Given the description of an element on the screen output the (x, y) to click on. 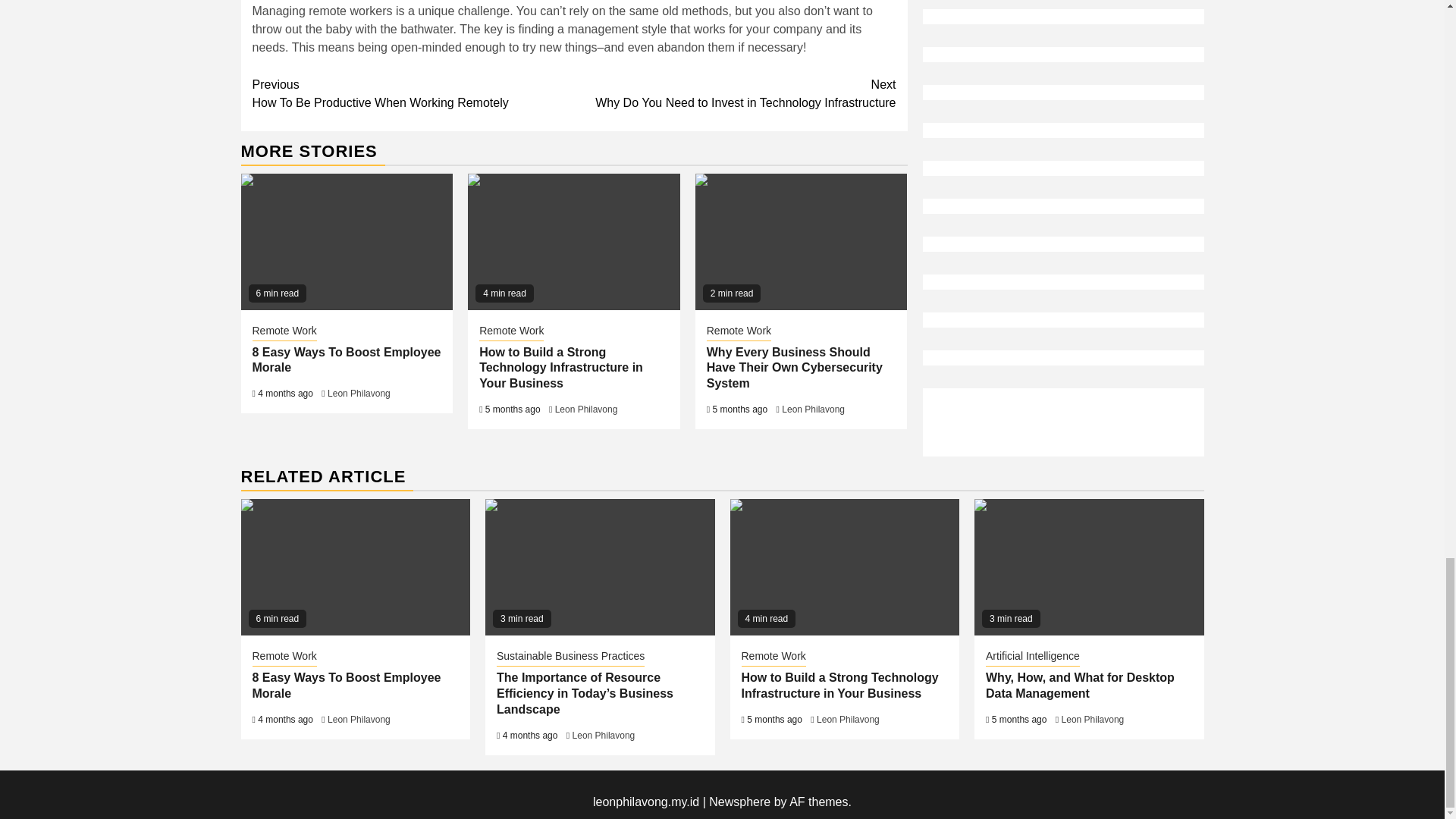
8 Easy Ways To Boost Employee Morale (734, 93)
8 Easy Ways To Boost Employee Morale (346, 241)
Remote Work (346, 359)
